Given the description of an element on the screen output the (x, y) to click on. 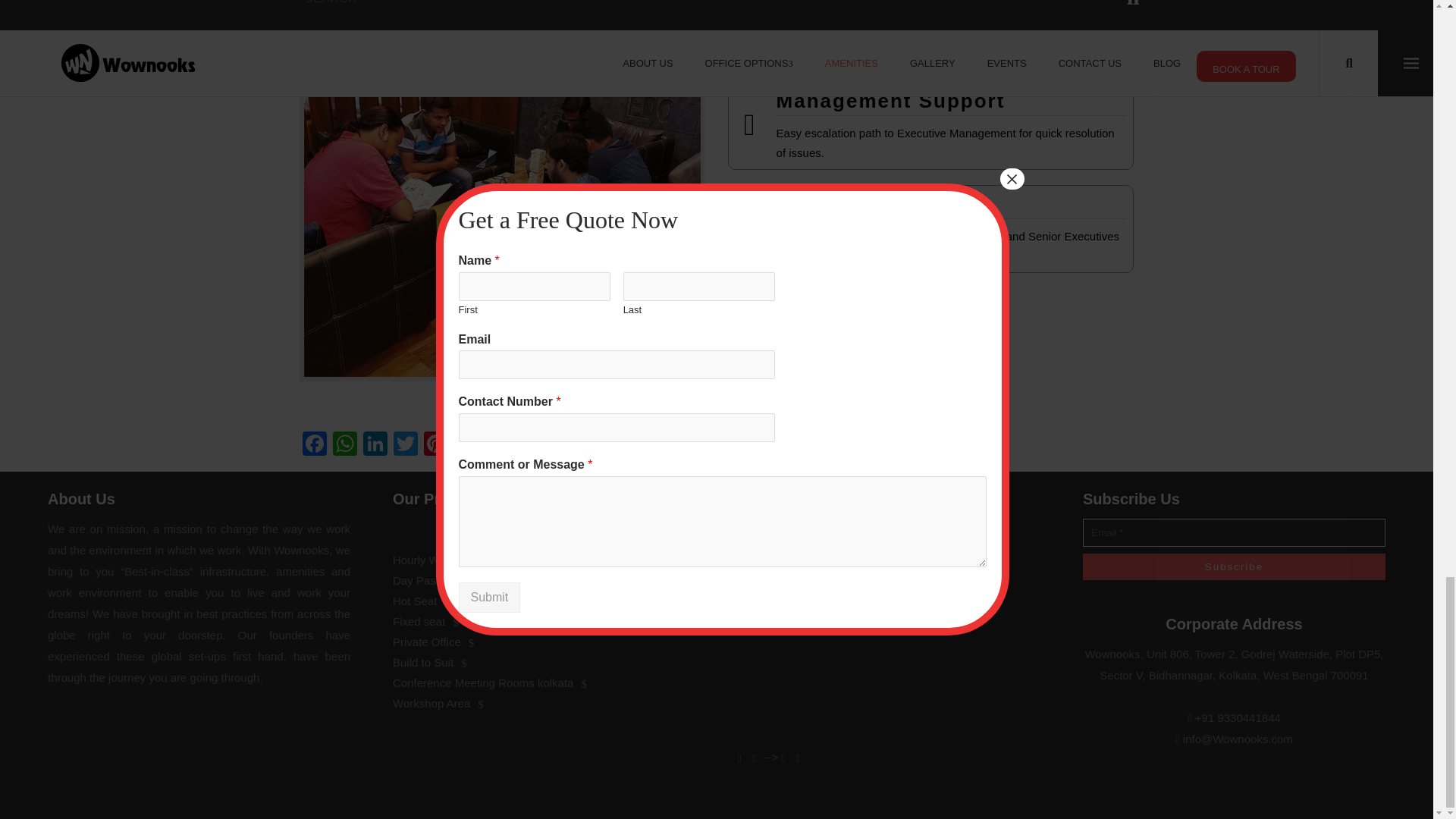
Subscribe (1234, 566)
Twitter (405, 445)
Email (466, 445)
Pinterest (435, 445)
LinkedIn (374, 445)
Facebook (314, 445)
WhatsApp (344, 445)
